Given the description of an element on the screen output the (x, y) to click on. 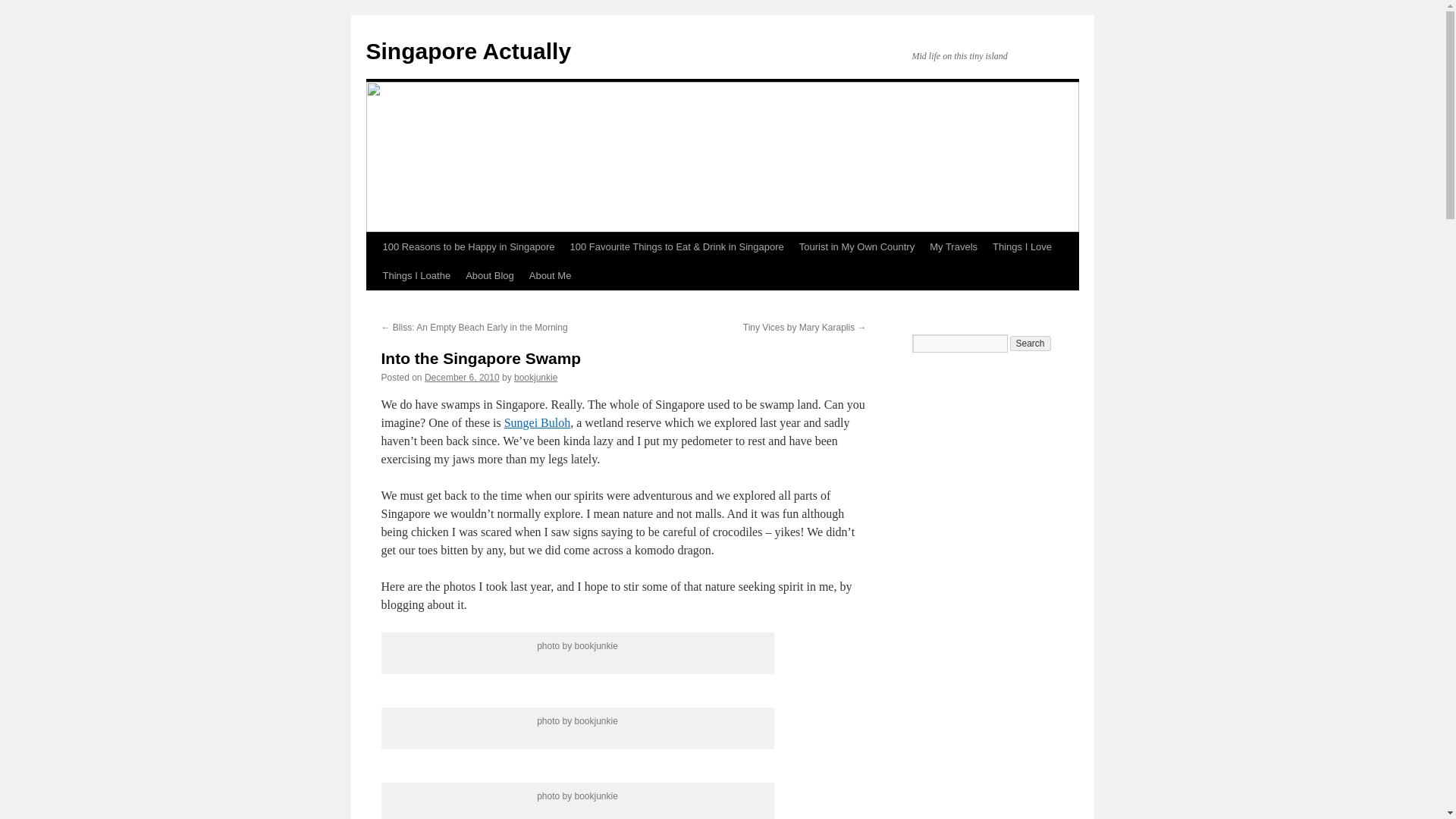
About Me (550, 275)
bookjunkie (535, 377)
Things I Love (1022, 246)
Tourist in My Own Country (856, 246)
Search (1030, 343)
Sungei Buloh (536, 422)
About Blog (489, 275)
Singapore Actually (467, 50)
View all posts by bookjunkie (535, 377)
My Travels (953, 246)
